Given the description of an element on the screen output the (x, y) to click on. 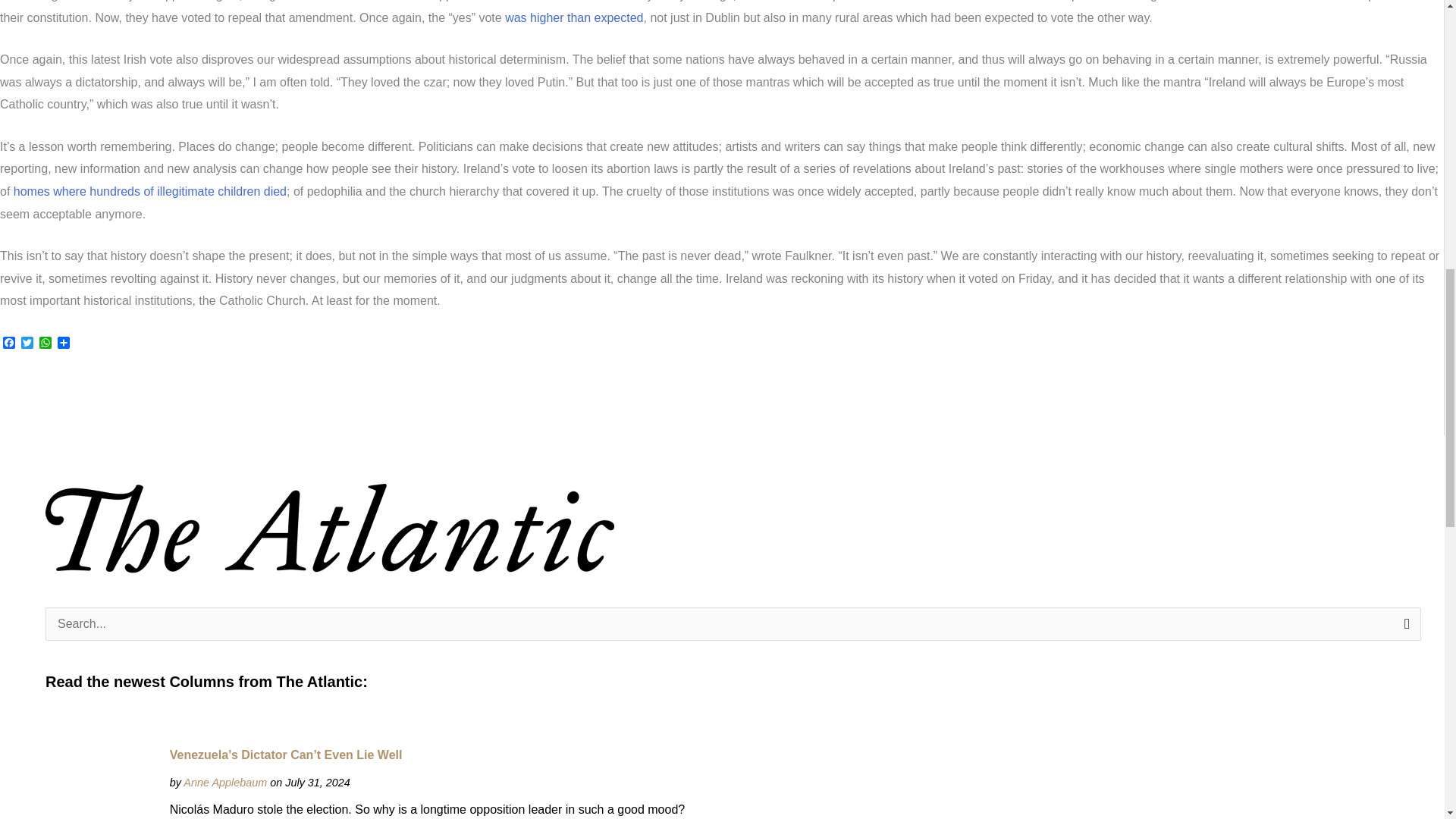
www.theatlantic.com (224, 782)
Facebook (8, 343)
WhatsApp (45, 343)
Twitter (26, 343)
